Given the description of an element on the screen output the (x, y) to click on. 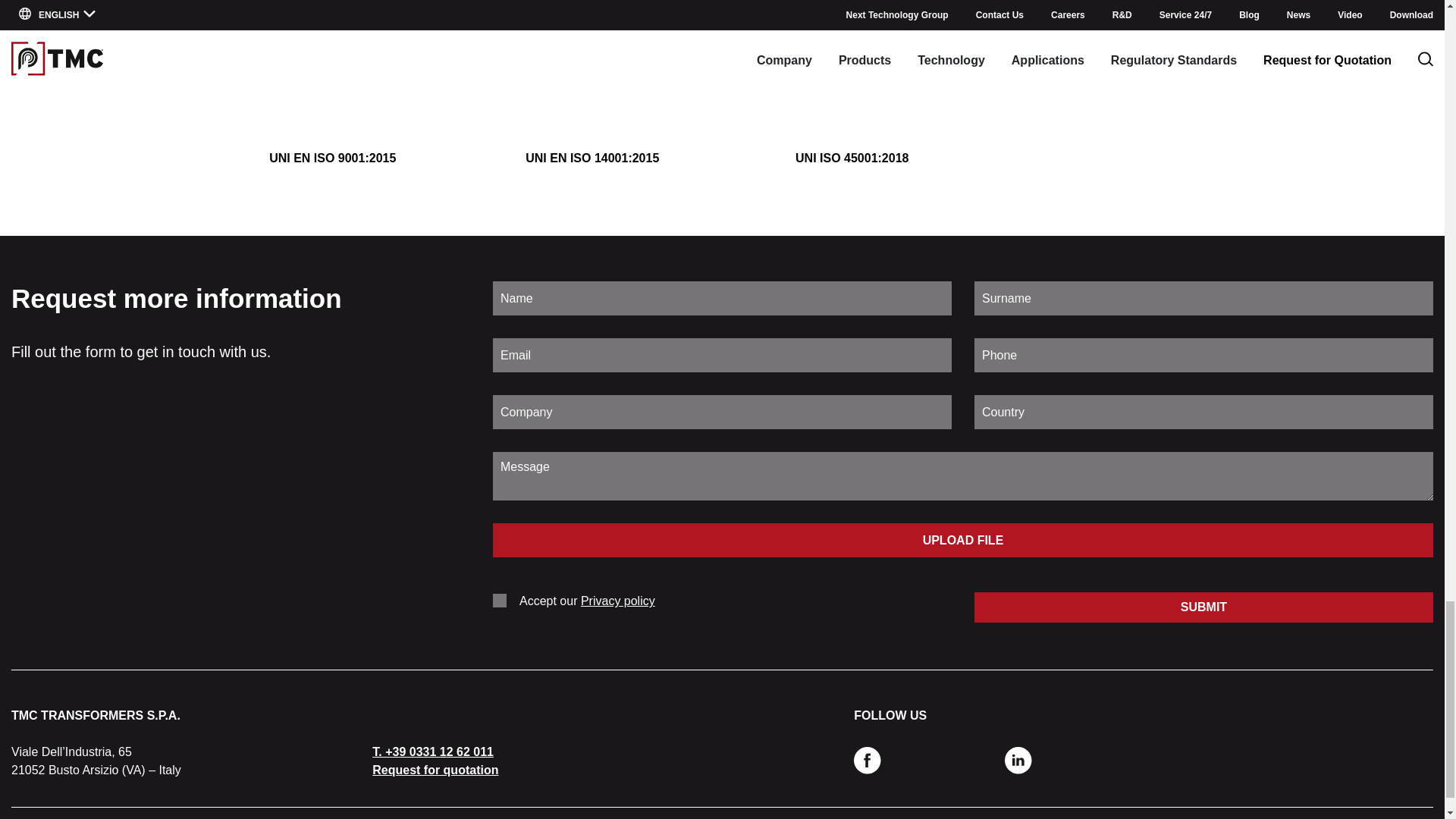
UNI EN ISO 14001:2015 (592, 111)
UNI ISO 45001:2018 (852, 111)
UNI EN ISO 9001:2015 (332, 111)
Privacy policy (617, 600)
SUBMIT (1203, 607)
Privacy Policy  (617, 600)
Request for quotation (434, 769)
